Given the description of an element on the screen output the (x, y) to click on. 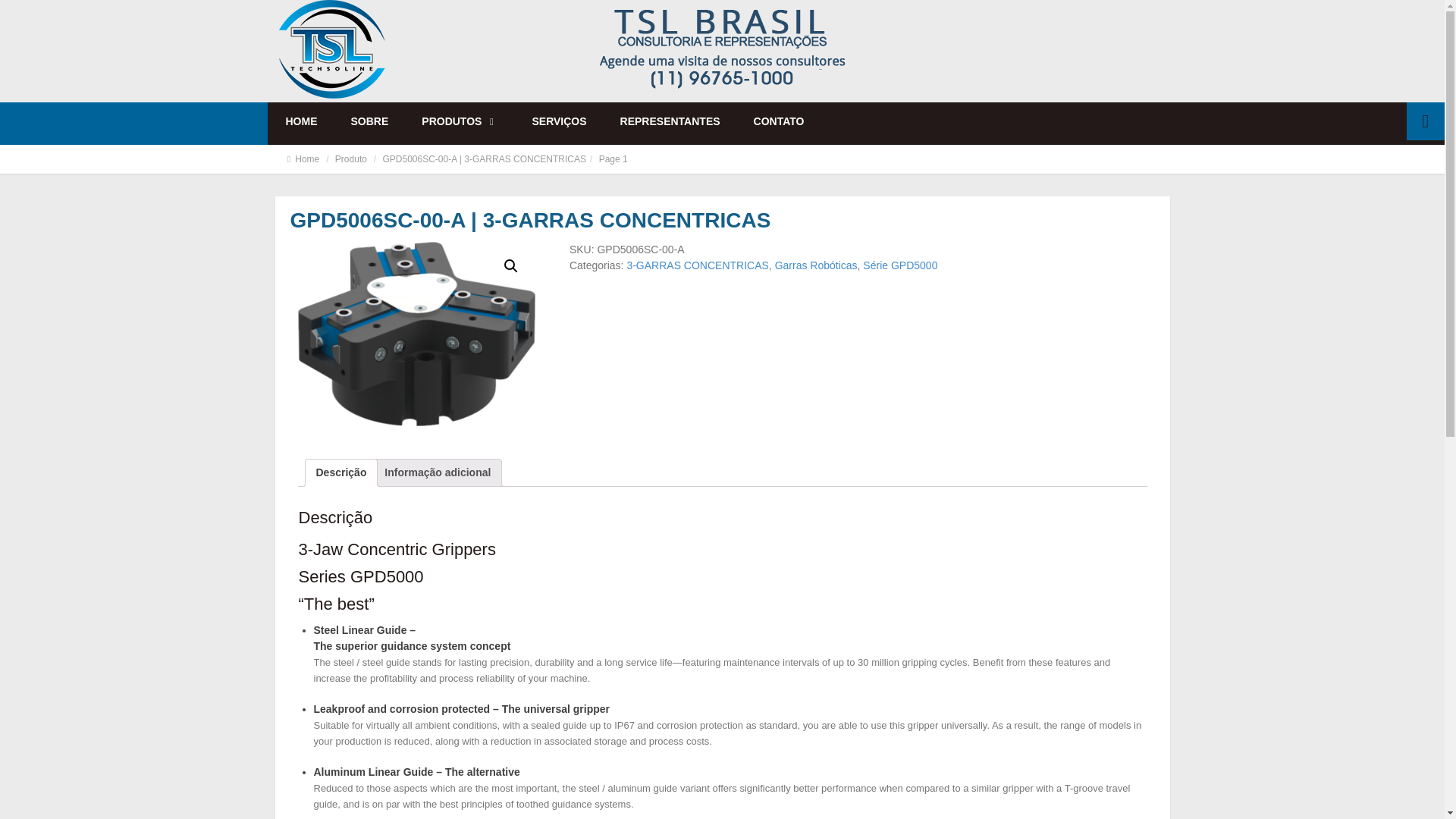
PRODUTOS (459, 121)
HOME (301, 121)
Sobre (369, 121)
SOBRE (369, 121)
Home (300, 158)
Produto (350, 158)
REPRESENTANTES (670, 121)
Representantes (670, 121)
3-GARRAS CONCENTRICAS (697, 265)
CONTATO (779, 121)
Produtos (459, 121)
Contato (779, 121)
Home (301, 121)
